Given the description of an element on the screen output the (x, y) to click on. 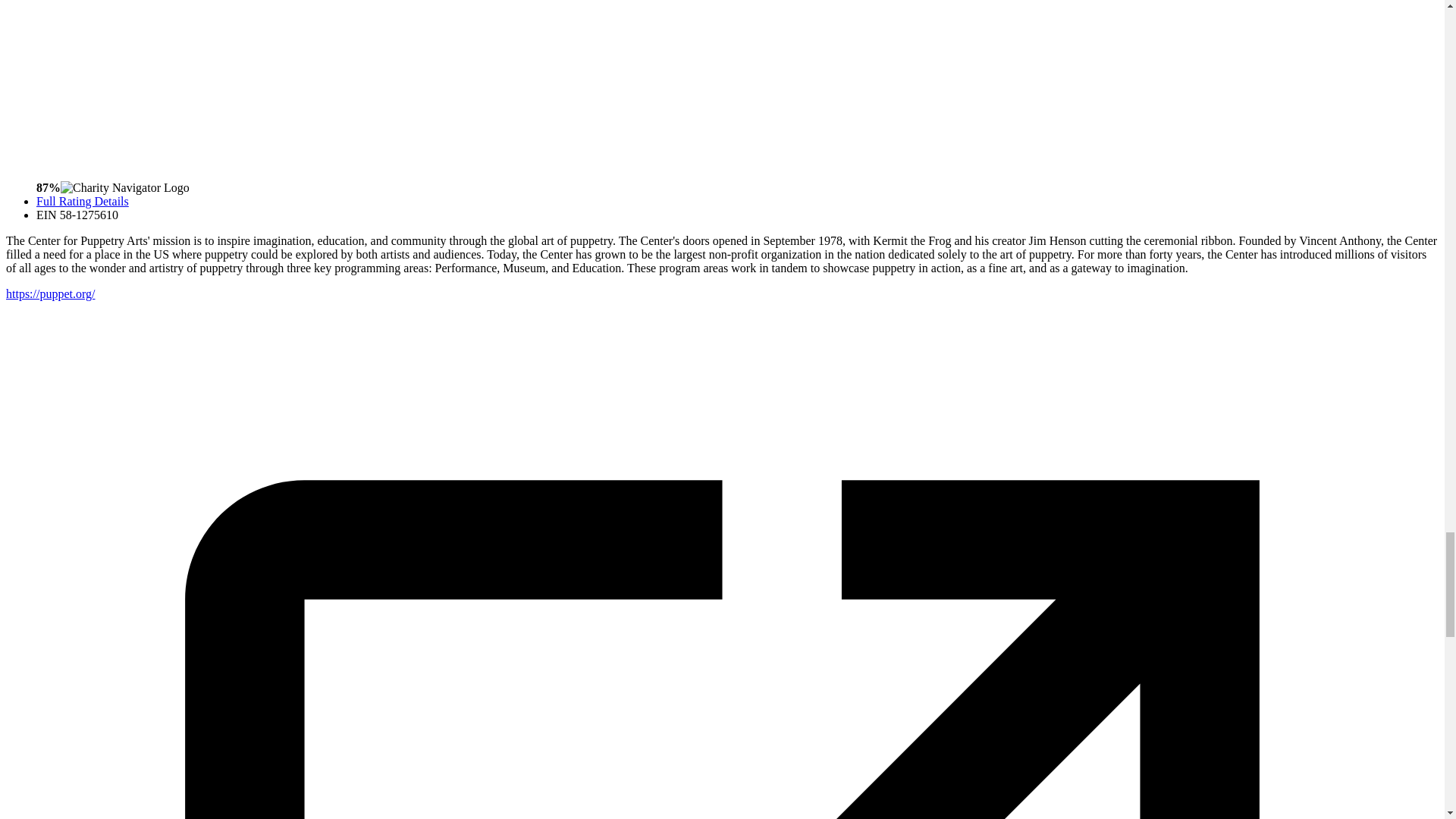
Full Rating Details (82, 201)
